Given the description of an element on the screen output the (x, y) to click on. 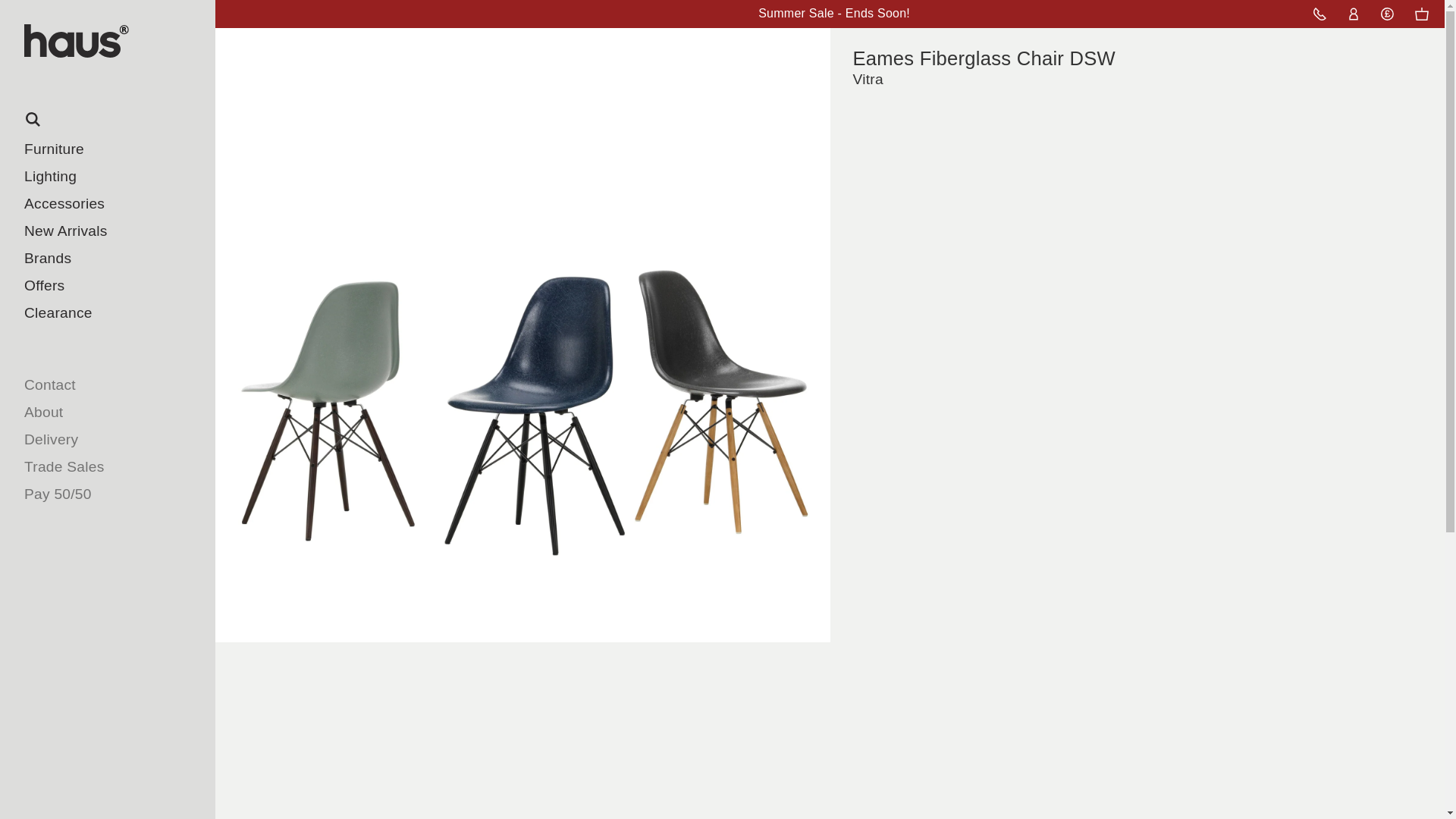
Chairs (75, 206)
Outdoor (75, 479)
Desks (75, 370)
All Furniture (75, 179)
Sofas (75, 288)
Stools and Benches (75, 261)
Beds (75, 397)
Storage (75, 424)
Accessories (107, 203)
Currency Conversion (1387, 13)
String System (75, 452)
haus (115, 48)
Search (107, 119)
Furniture (107, 148)
Lighting (107, 176)
